Given the description of an element on the screen output the (x, y) to click on. 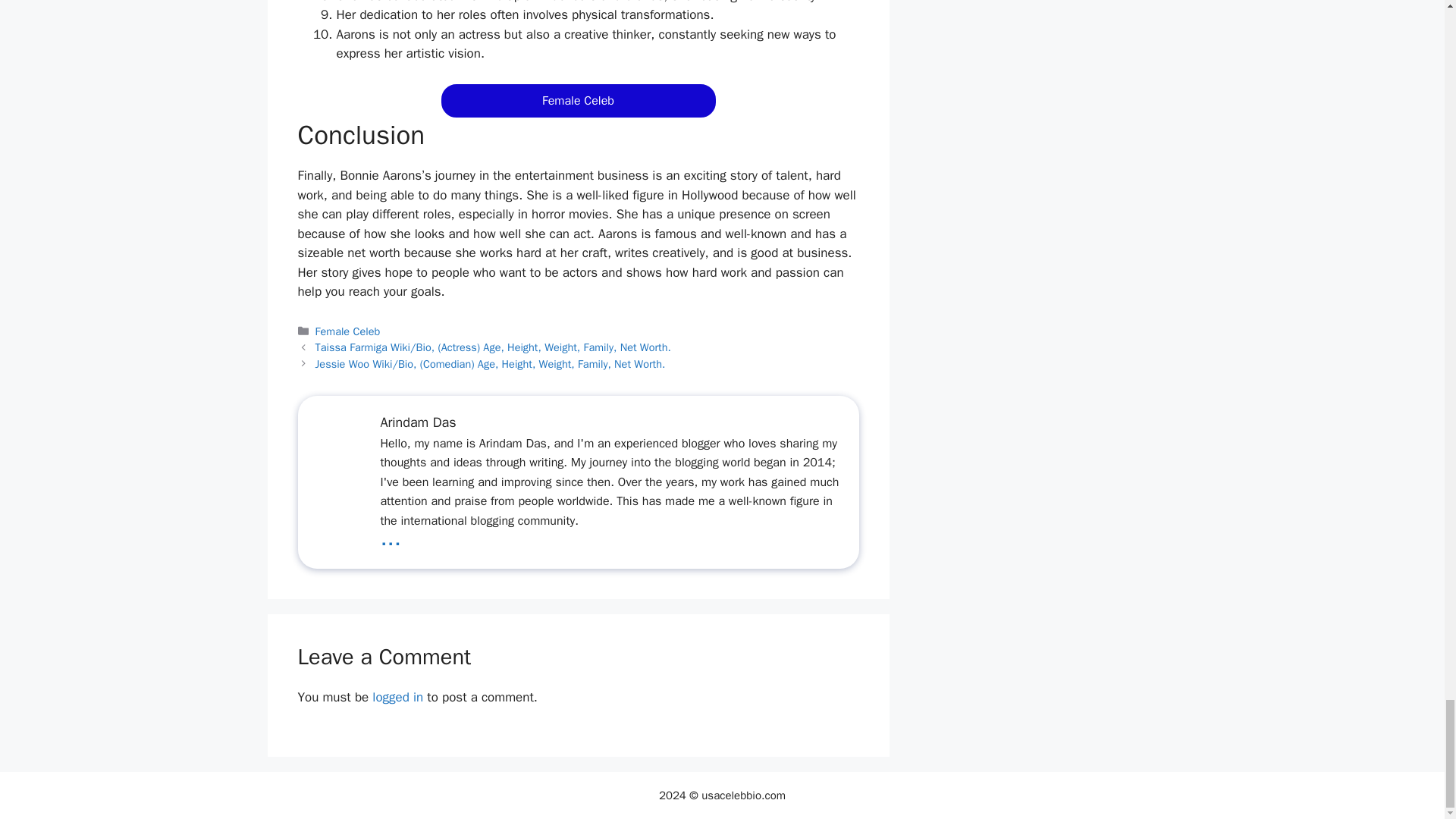
Female Celeb (578, 100)
Female Celeb (347, 331)
logged in (397, 697)
